Given the description of an element on the screen output the (x, y) to click on. 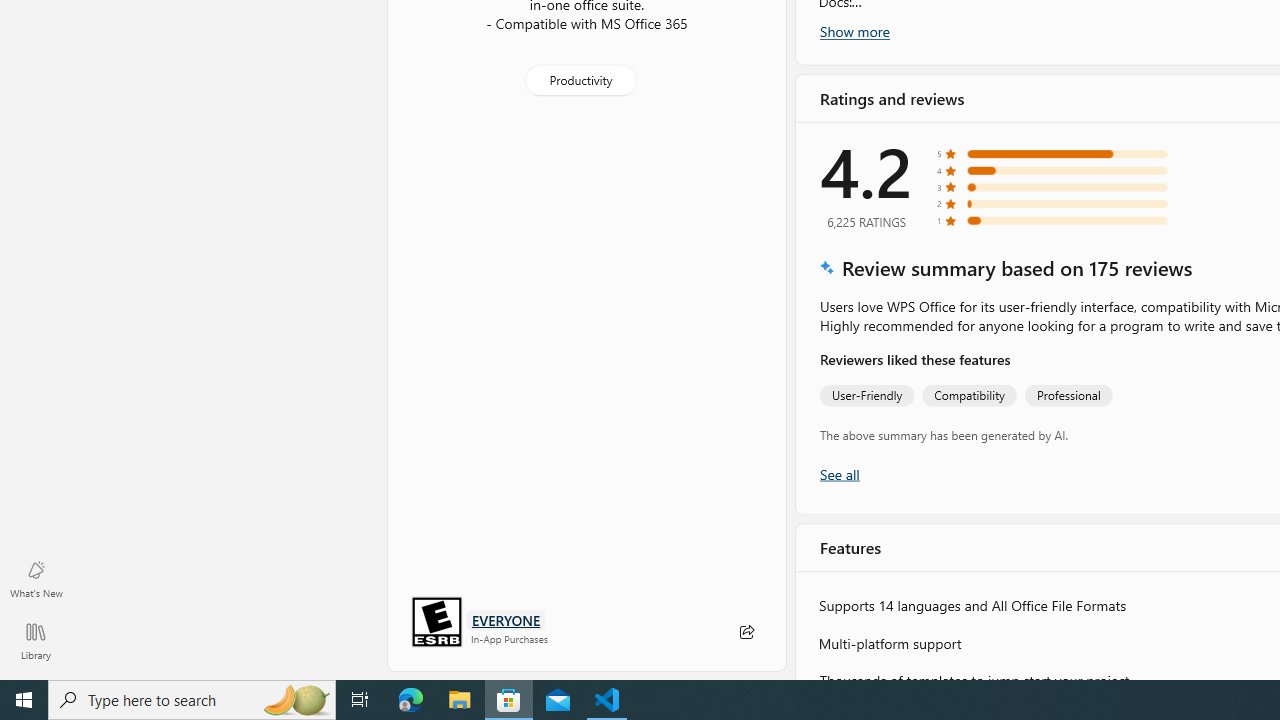
Share (746, 632)
Age rating: EVERYONE. Click for more information. (506, 619)
Show more (854, 31)
What's New (35, 578)
Show all ratings and reviews (838, 472)
Productivity (579, 79)
Library (35, 640)
